Given the description of an element on the screen output the (x, y) to click on. 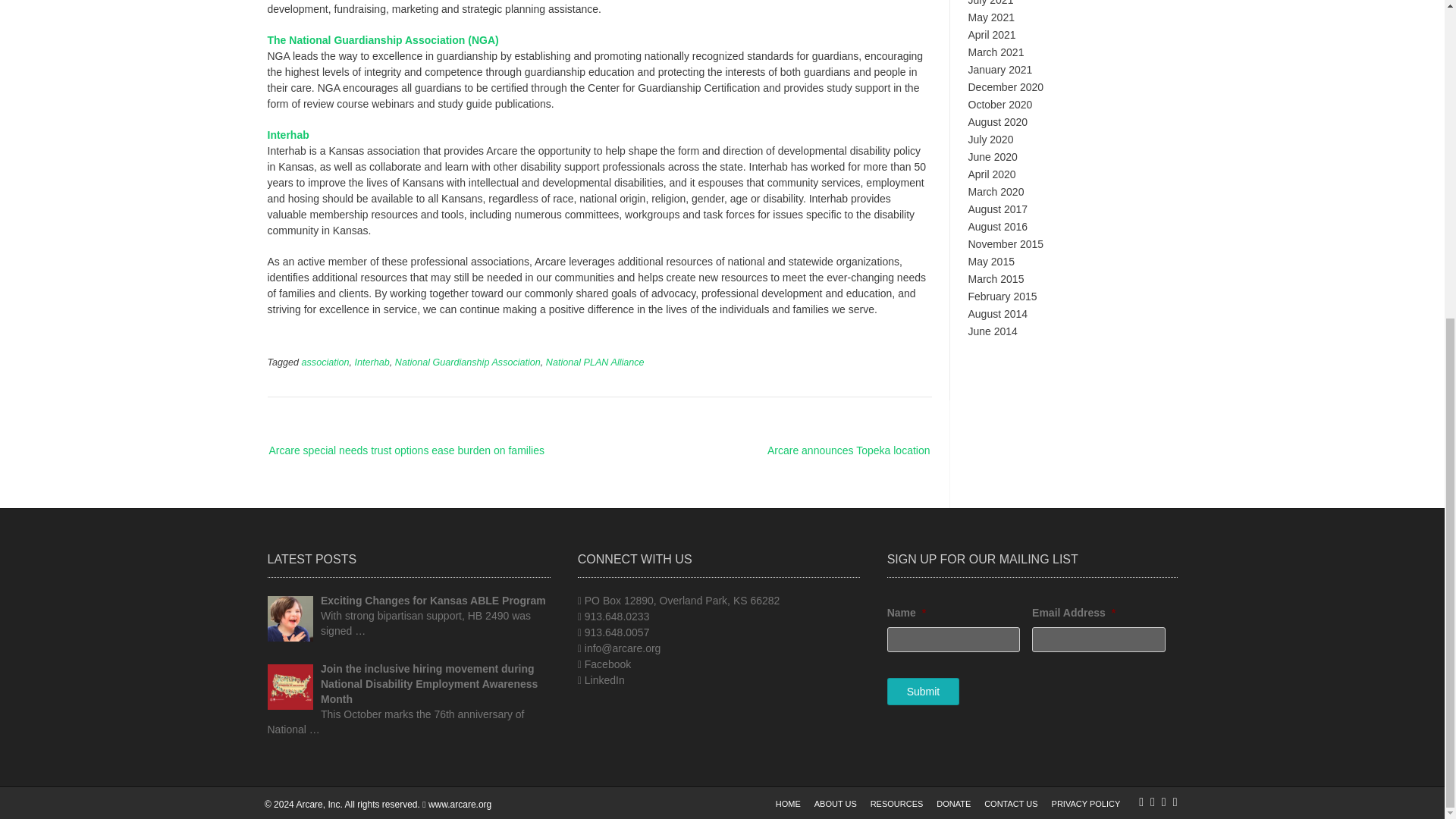
Submit (922, 691)
Interhab (287, 134)
National PLAN Alliance (595, 362)
National Guardianship Association (467, 362)
Facebook (607, 664)
Arcare announces Topeka location (833, 450)
association (325, 362)
Interhab (372, 362)
LinkedIn (604, 680)
